Given the description of an element on the screen output the (x, y) to click on. 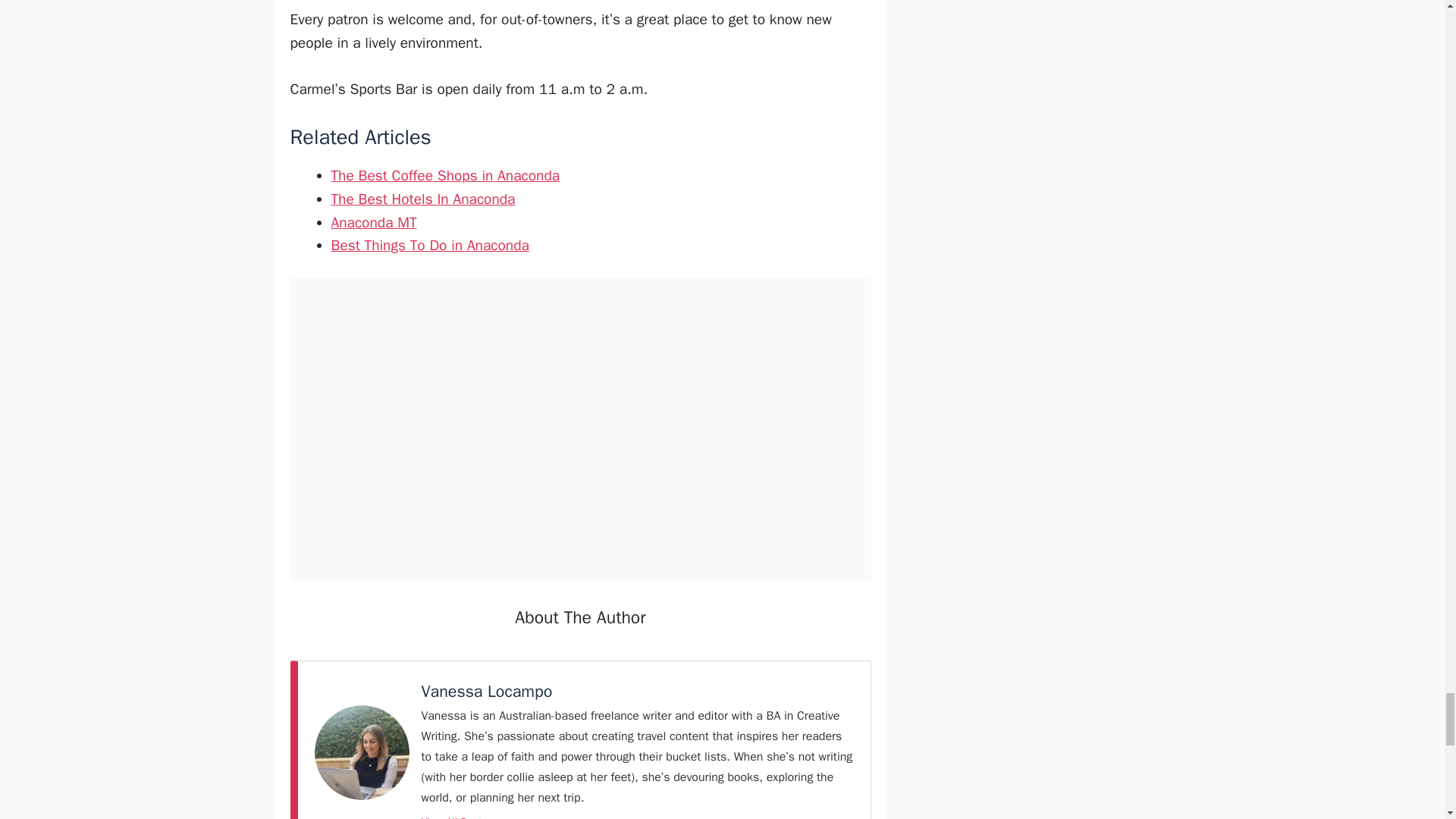
Read more (453, 815)
